Given the description of an element on the screen output the (x, y) to click on. 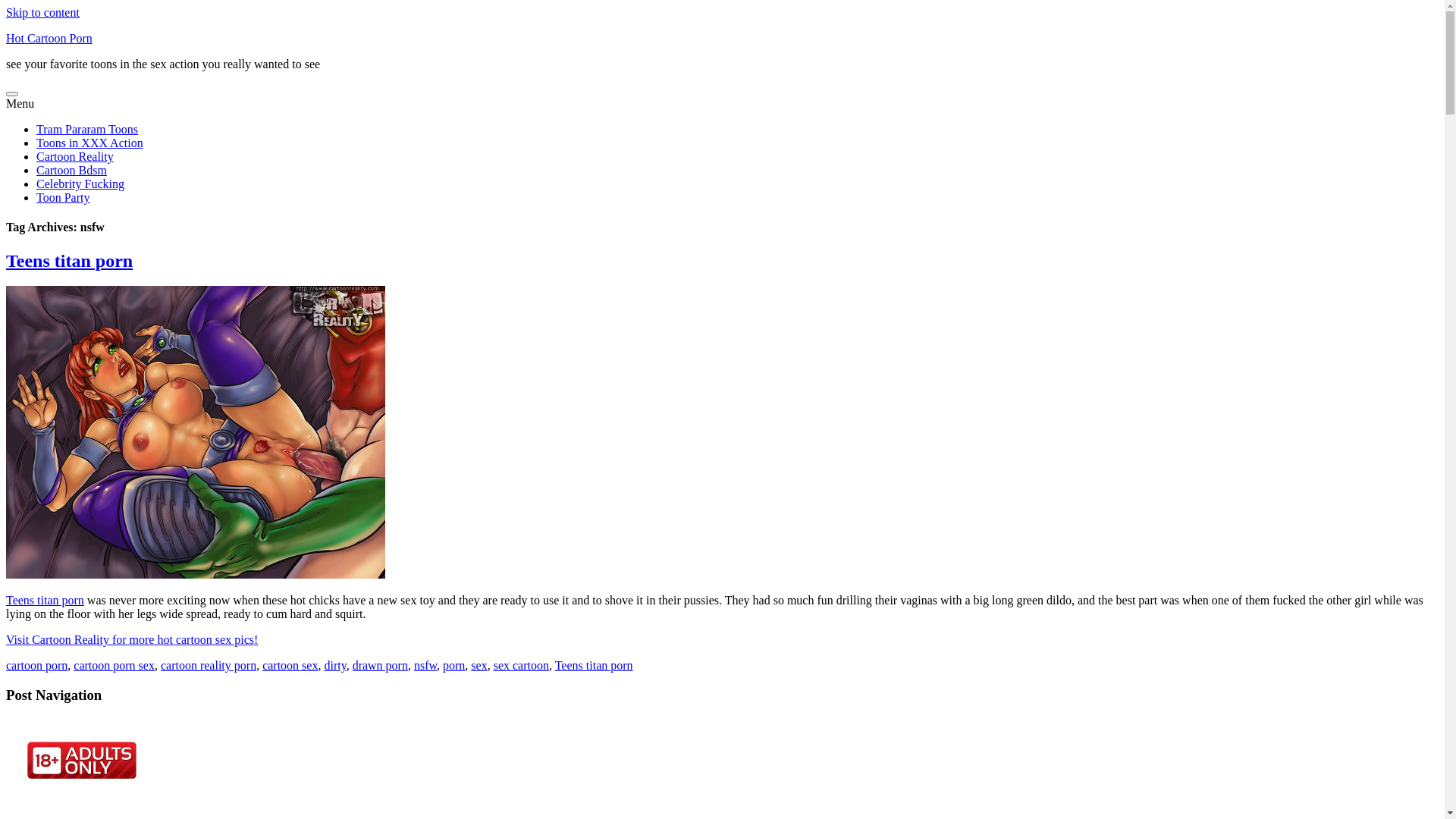
Toon Party Element type: text (62, 197)
dirty Element type: text (334, 664)
cartoon porn Element type: text (36, 664)
Visit Cartoon Reality for more hot cartoon sex pics! Element type: text (131, 639)
Toons in XXX Action Element type: text (89, 142)
Cartoon Reality Element type: text (74, 156)
Cartoon Bdsm Element type: text (71, 169)
sex Element type: text (478, 664)
cartoon porn sex Element type: text (113, 664)
sex cartoon Element type: text (521, 664)
Tram Pararam Toons Element type: text (87, 128)
cartoon reality porn Element type: text (208, 664)
Celebrity Fucking Element type: text (80, 183)
nsfw Element type: text (425, 664)
Teens titan porn Element type: text (69, 260)
porn Element type: text (453, 664)
drawn porn Element type: text (379, 664)
cartoon sex Element type: text (289, 664)
Hot Cartoon Porn Element type: text (49, 37)
Skip to content Element type: text (42, 12)
Teens titan porn Element type: text (594, 664)
Teens titan porn Element type: text (45, 599)
